Given the description of an element on the screen output the (x, y) to click on. 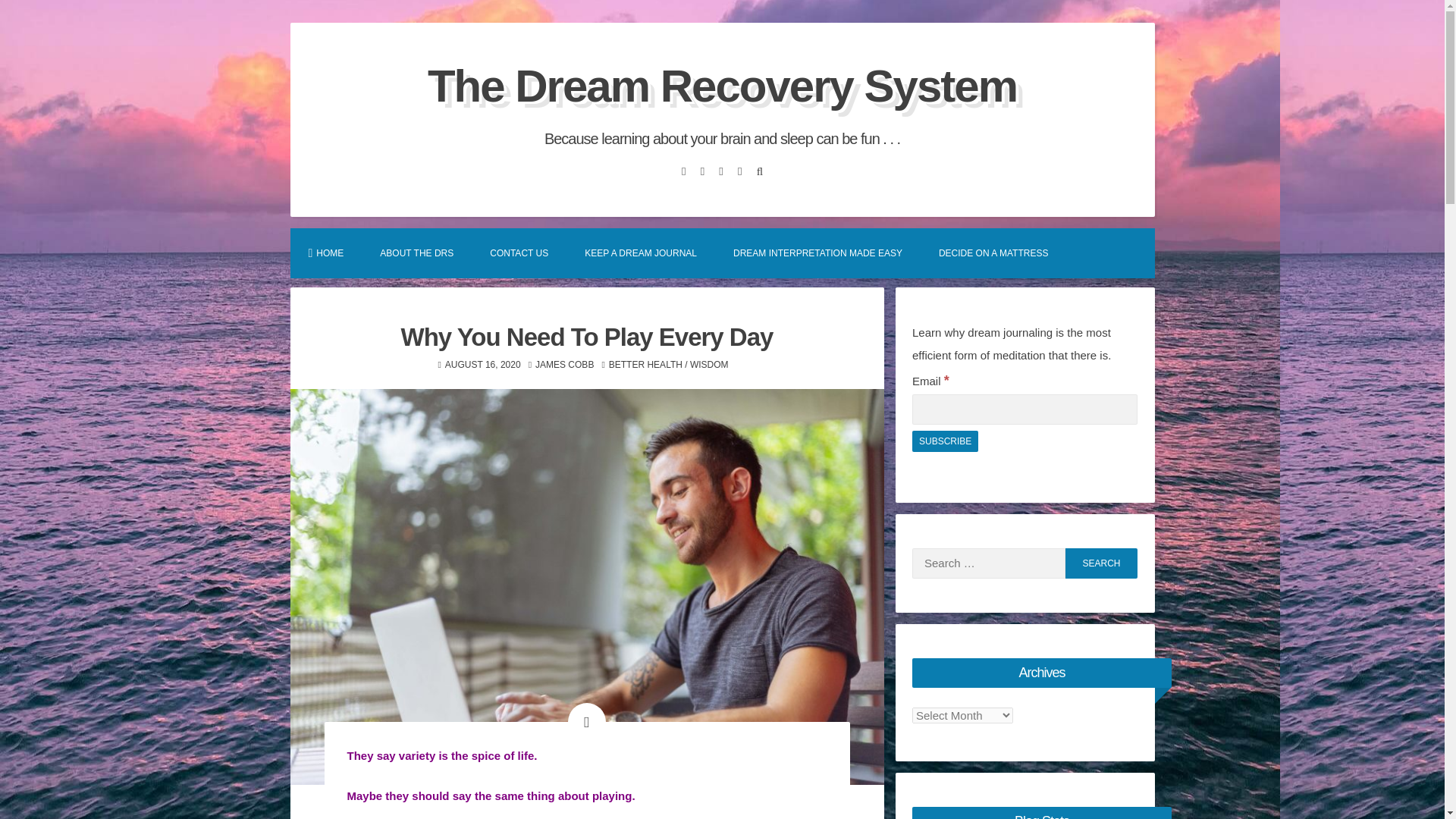
WISDOM (709, 364)
HOME (325, 252)
JAMES COBB (564, 364)
The Dream Recovery System (722, 85)
DREAM INTERPRETATION MADE EASY (817, 252)
Search (1101, 562)
Subscribe (945, 441)
CONTACT US (518, 252)
BETTER HEALTH (645, 364)
